Given the description of an element on the screen output the (x, y) to click on. 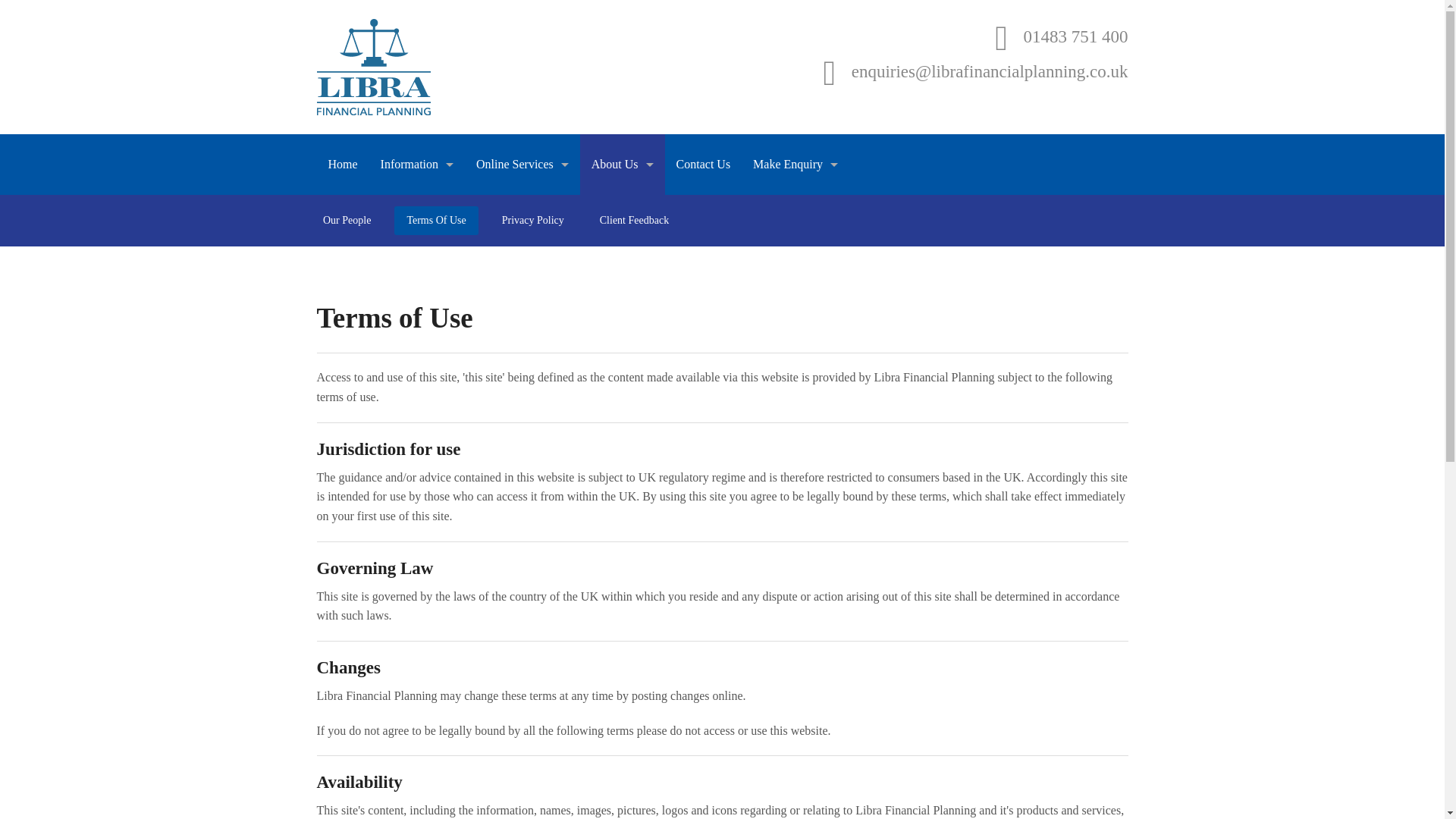
Privacy Policy (532, 220)
Our People (622, 211)
Protection (416, 382)
Newsletters (521, 314)
Investment Enquiry (794, 348)
Business Protection (416, 211)
Online Services (521, 164)
Market Data (521, 245)
About Us (622, 164)
Calculators (521, 211)
Videos (521, 348)
Our People (346, 220)
Investments (416, 279)
Contact Us (703, 164)
Make Enquiry (794, 164)
